Given the description of an element on the screen output the (x, y) to click on. 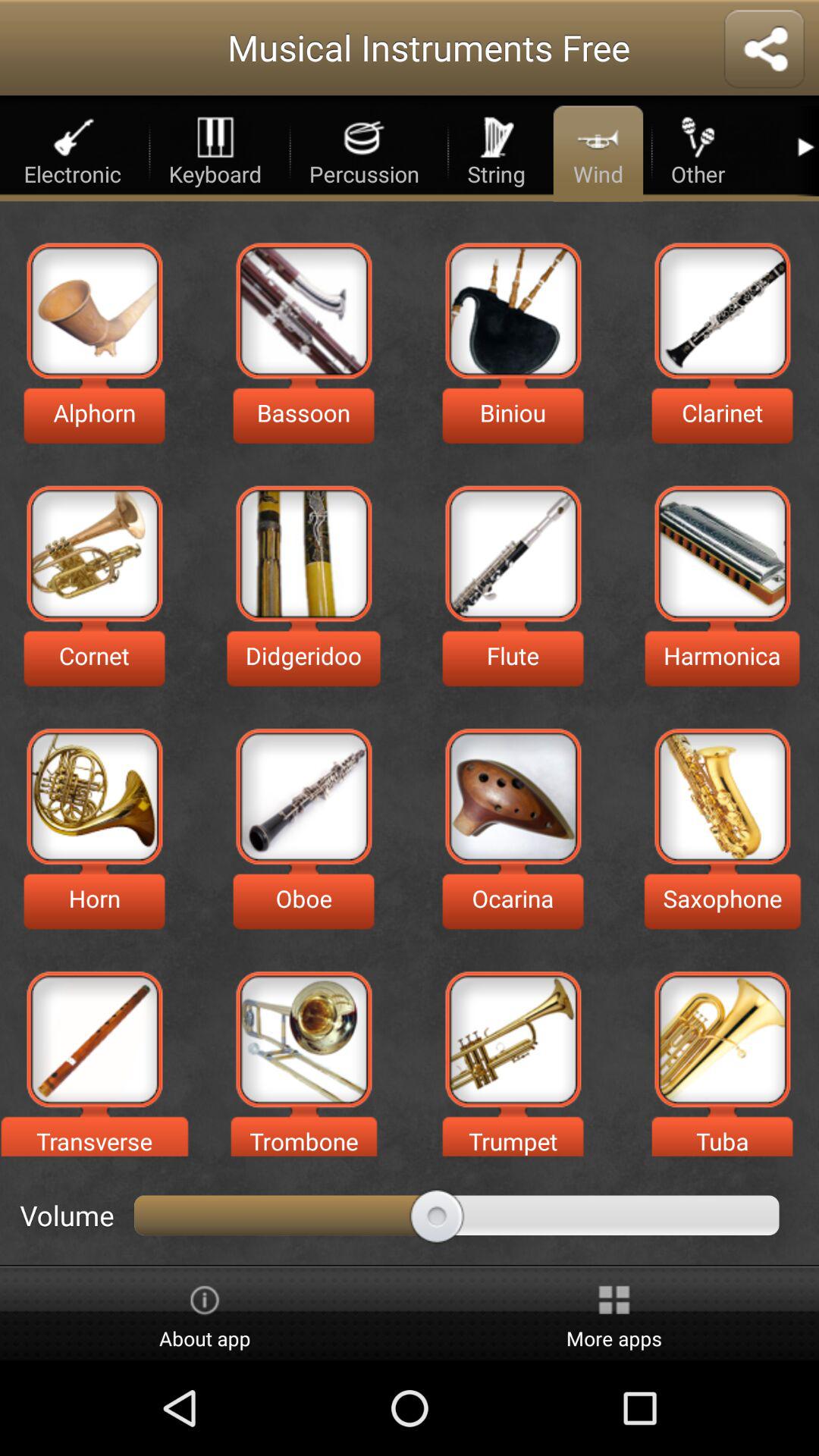
share button (764, 50)
